Given the description of an element on the screen output the (x, y) to click on. 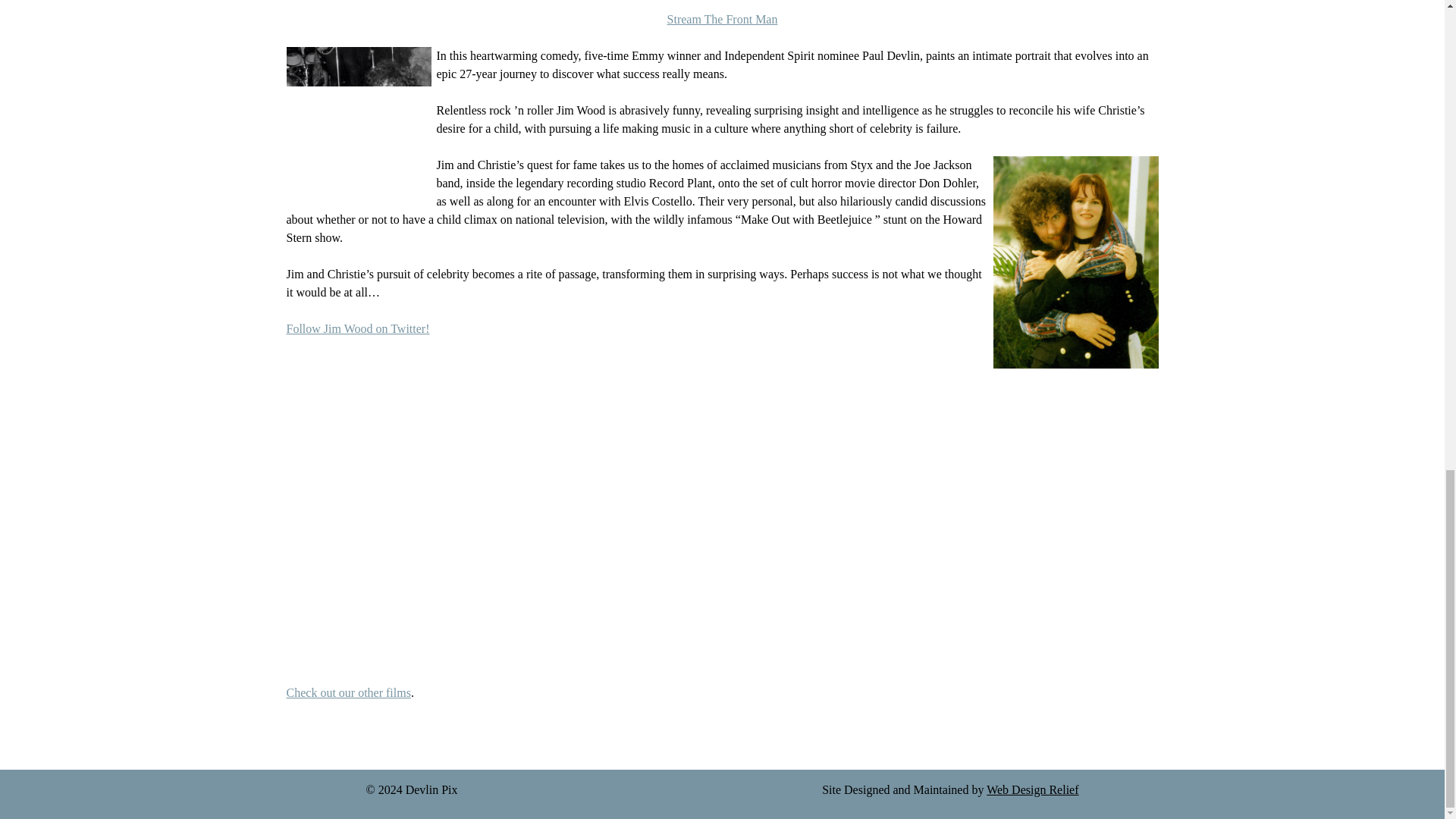
Check out our other films (348, 692)
Follow Jim Wood on Twitter! (357, 328)
Web Design Relief (1032, 789)
Stream The Front Man (721, 19)
